Given the description of an element on the screen output the (x, y) to click on. 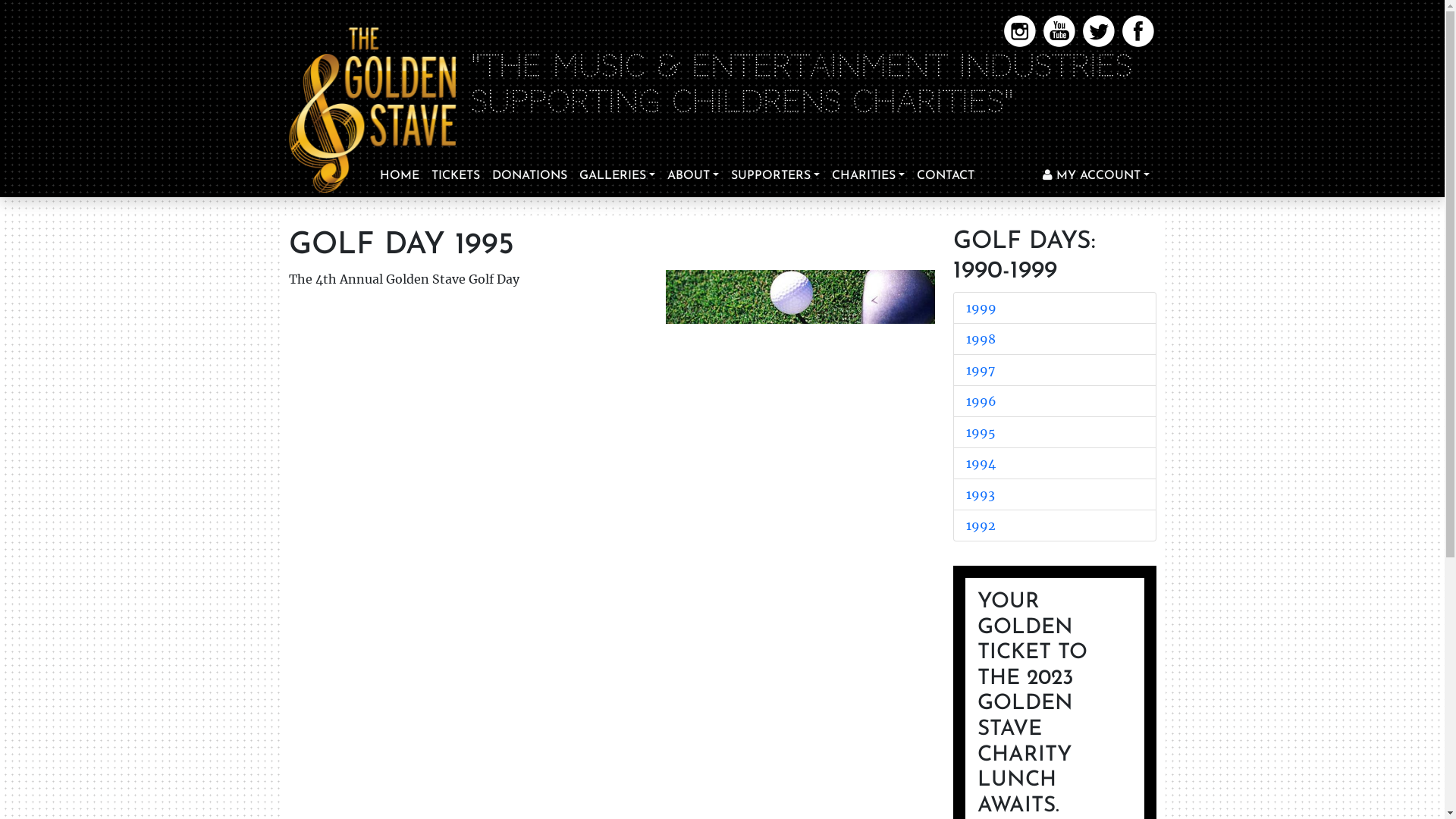
ABOUT Element type: text (692, 175)
DONATIONS Element type: text (528, 175)
1997 Element type: text (980, 369)
1992 Element type: text (980, 525)
MY ACCOUNT Element type: text (1095, 175)
HOME Element type: text (398, 175)
1995 Element type: text (980, 431)
SUPPORTERS Element type: text (774, 175)
CONTACT Element type: text (945, 175)
GALLERIES Element type: text (617, 175)
1999 Element type: text (981, 307)
1994 Element type: text (980, 462)
1996 Element type: text (981, 400)
1998 Element type: text (980, 338)
CHARITIES Element type: text (867, 175)
TICKETS Element type: text (454, 175)
1993 Element type: text (980, 494)
